Given the description of an element on the screen output the (x, y) to click on. 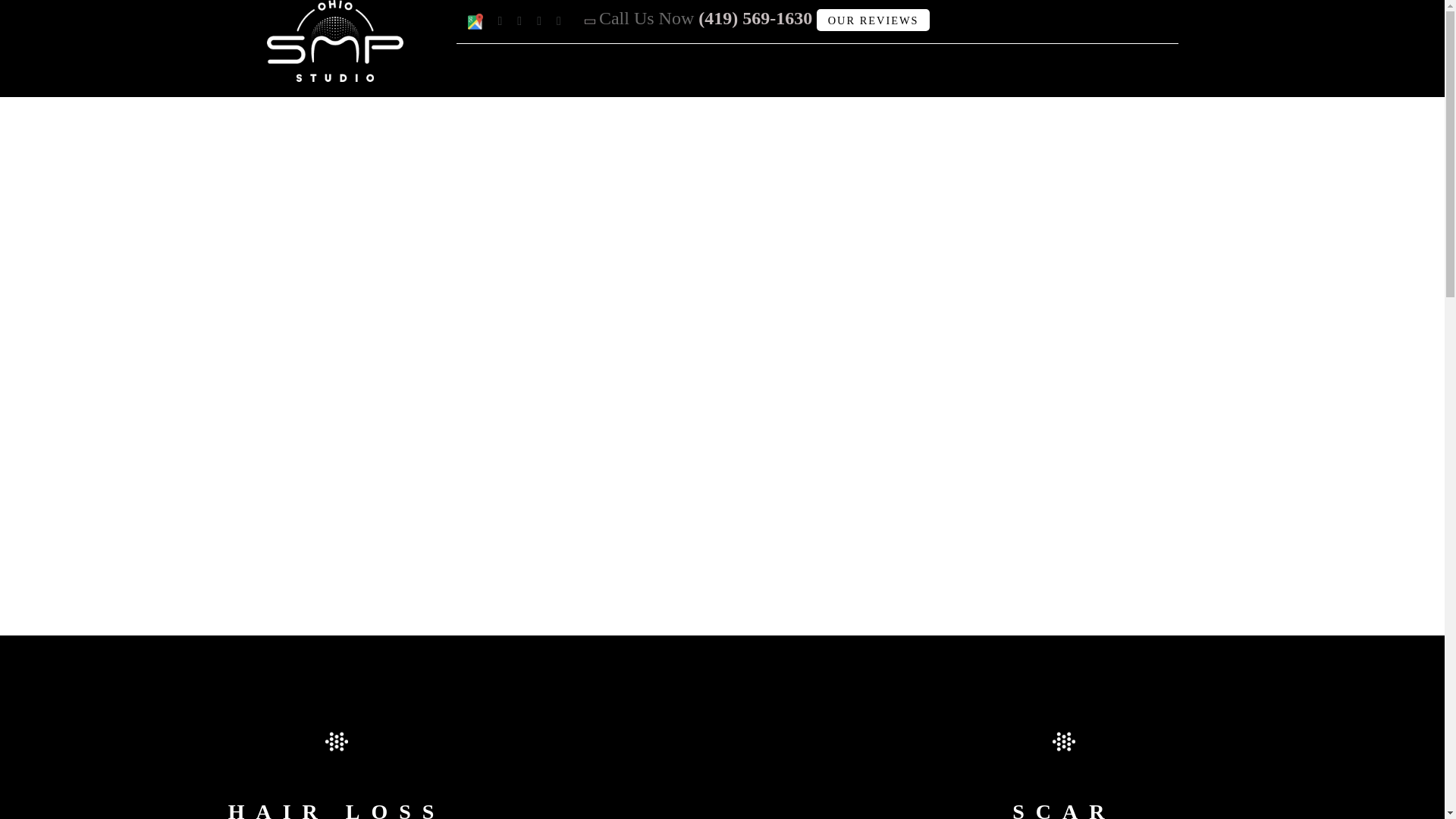
star (1063, 741)
Google My Business Profile (474, 21)
OUR REVIEWS (873, 20)
Google My Business Profile (474, 21)
star (335, 741)
